Given the description of an element on the screen output the (x, y) to click on. 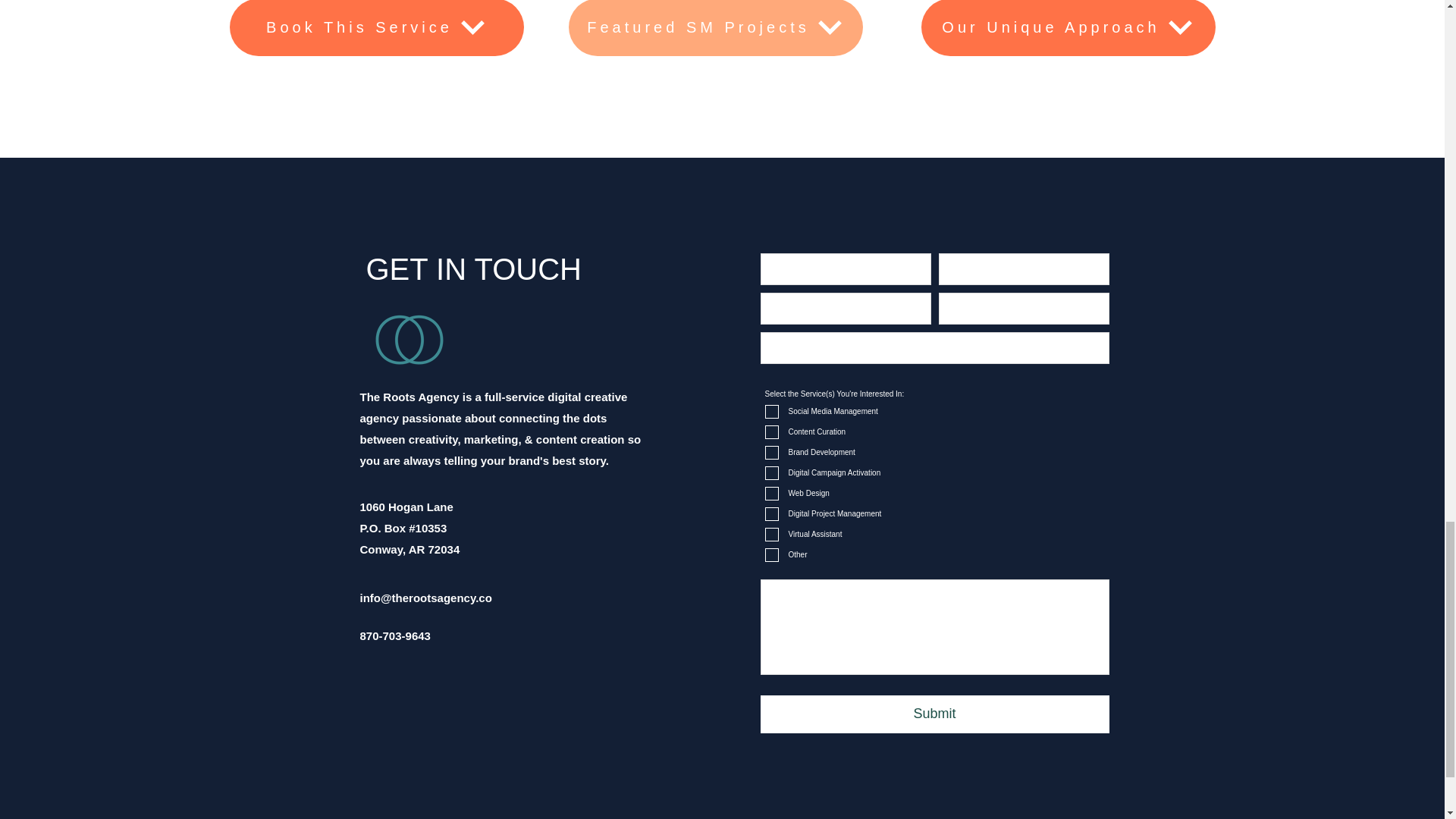
Our Unique Approach (1067, 28)
Submit (934, 714)
Featured SM Projects (716, 28)
Book This Service (375, 28)
